Given the description of an element on the screen output the (x, y) to click on. 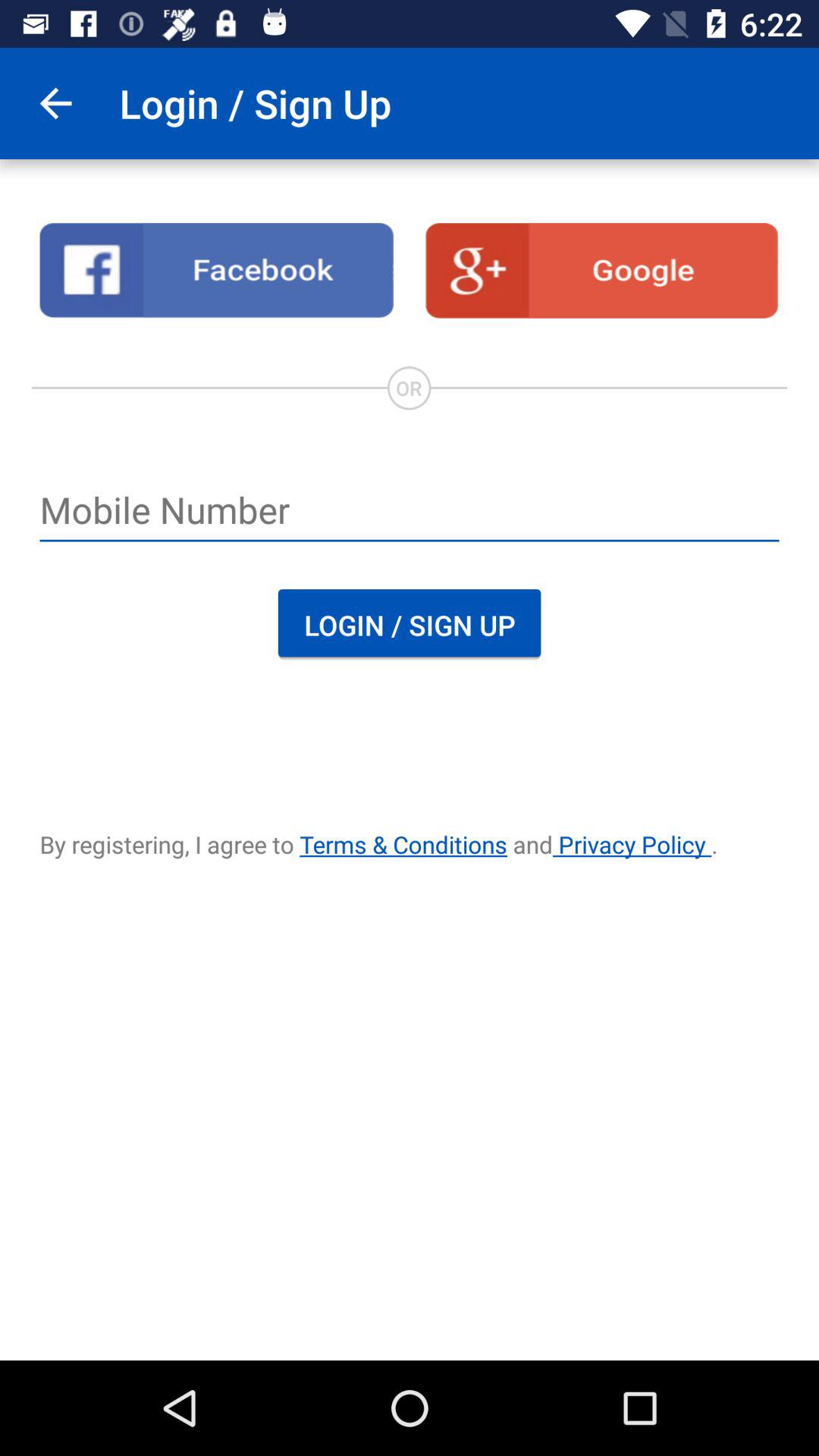
login through facebook (216, 270)
